Given the description of an element on the screen output the (x, y) to click on. 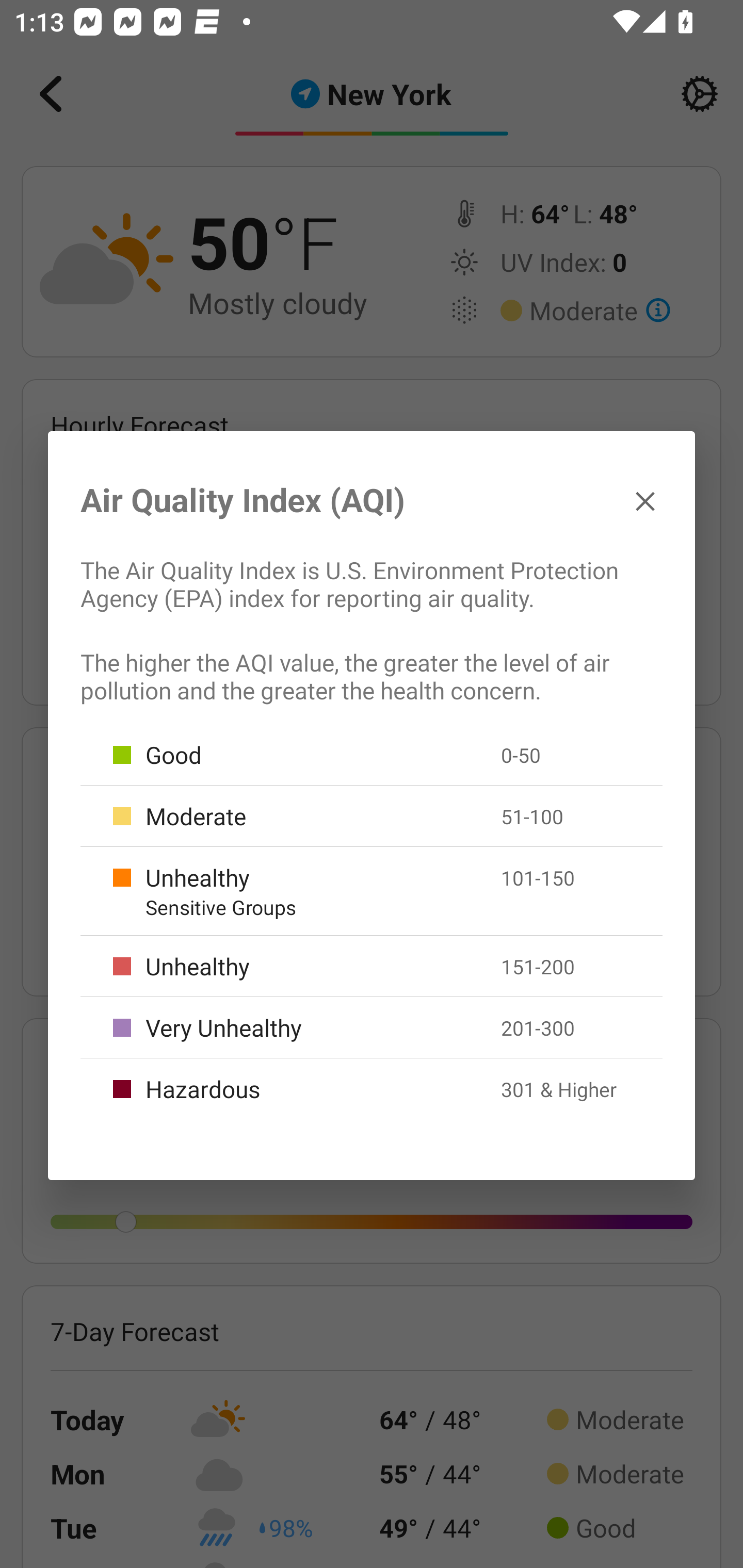
✕ (644, 499)
